Given the description of an element on the screen output the (x, y) to click on. 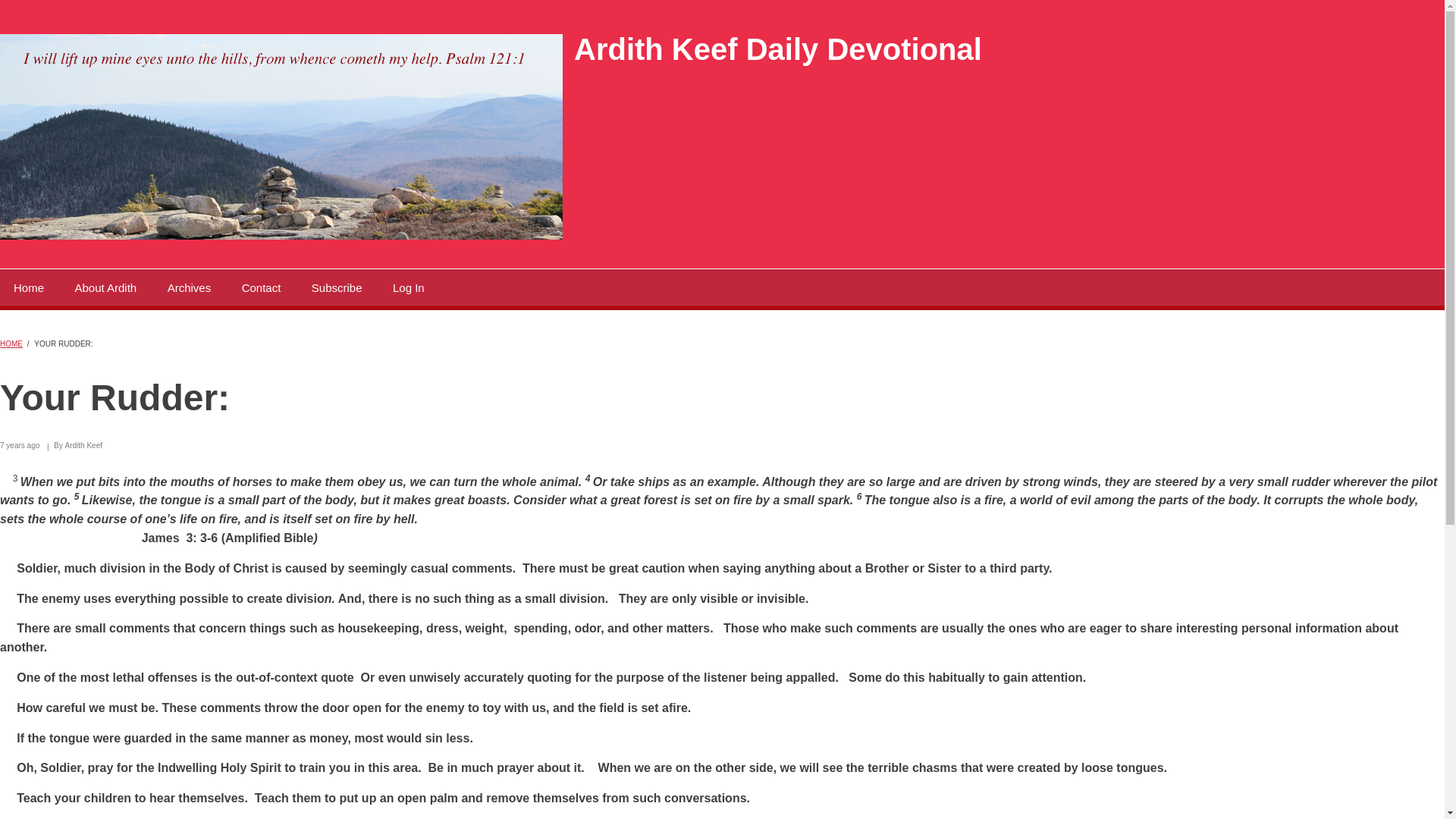
Home (281, 235)
Subscribe (336, 287)
Contact (261, 287)
Ardith Keef Daily Devotional (777, 49)
Home (777, 49)
HOME (11, 343)
Log In (408, 287)
About Ardith (105, 287)
Home (29, 287)
Archives (189, 287)
Subscribe to receive the daily Devotional via email. (336, 287)
